Given the description of an element on the screen output the (x, y) to click on. 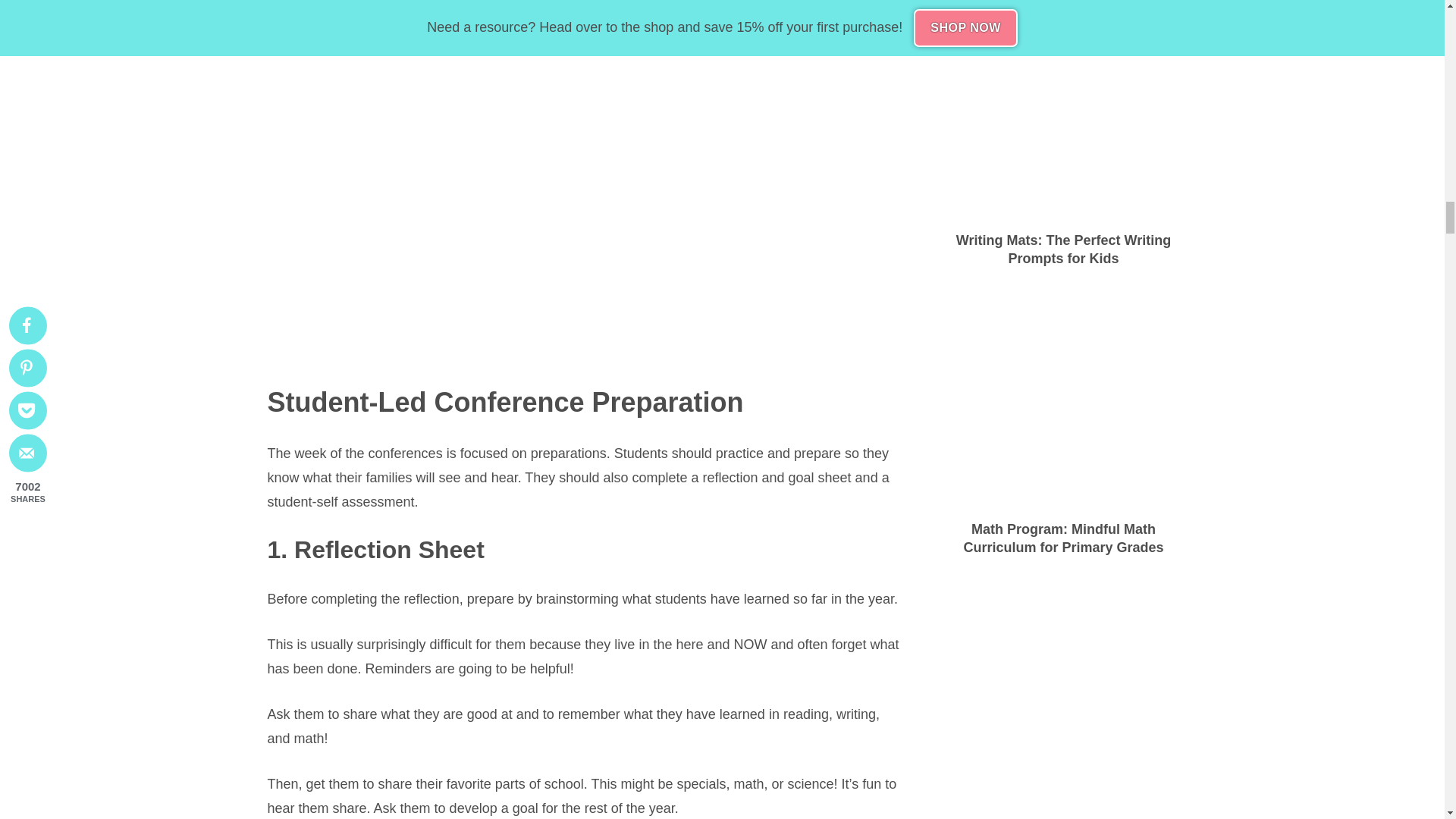
student portfolios - who am I writing (585, 83)
